Given the description of an element on the screen output the (x, y) to click on. 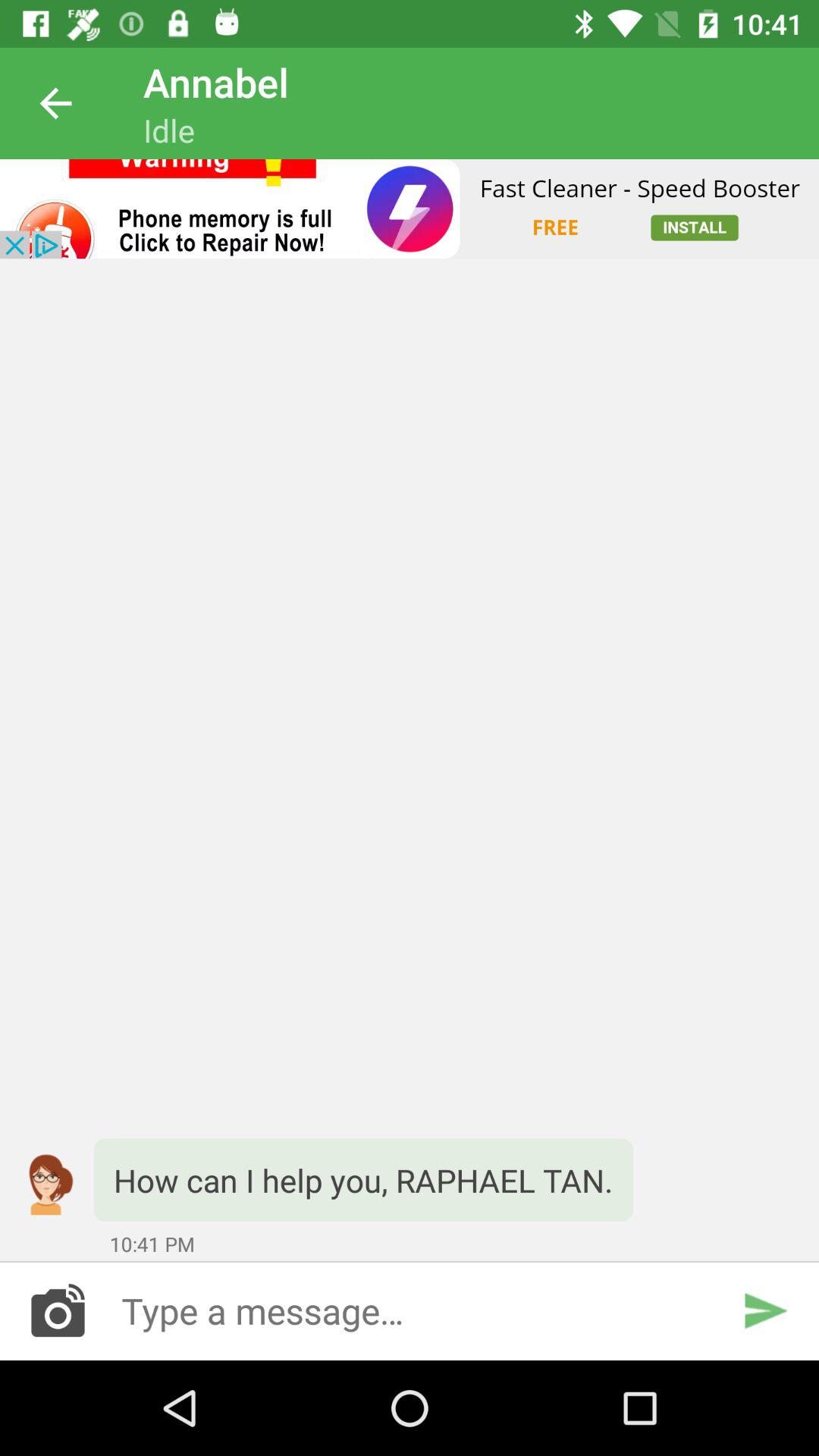
add images (57, 1310)
